Given the description of an element on the screen output the (x, y) to click on. 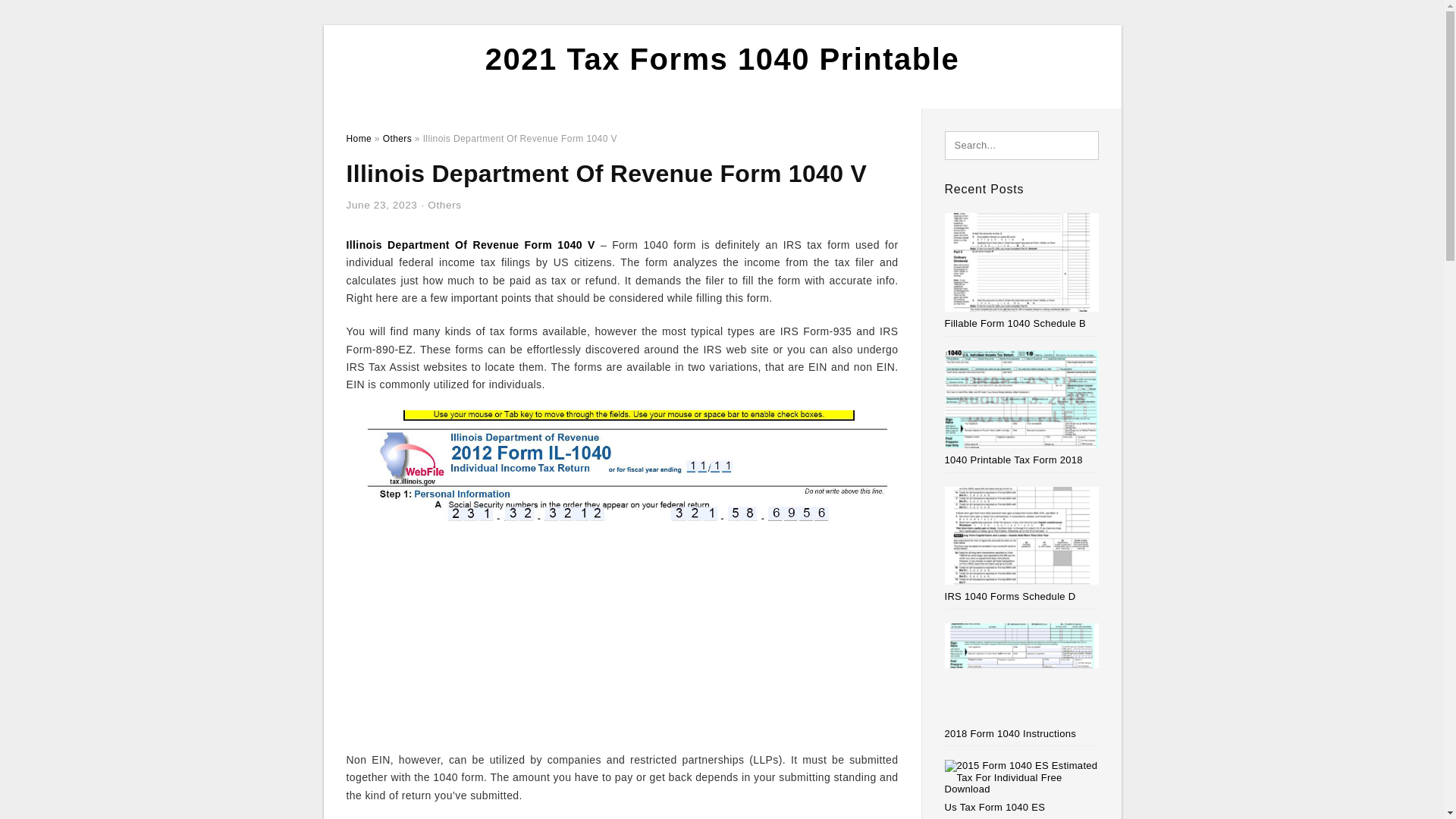
1040 Printable Tax Form 2018 (1013, 460)
Illinois Department Of Revenue Form 1040 V (470, 244)
Fillable Form 1040 Schedule B (1015, 323)
1040 Printable Tax Form 2018 (1013, 460)
Search for: (1021, 145)
2021 Tax Forms 1040 Printable (721, 59)
Home (358, 138)
Search (43, 15)
